Given the description of an element on the screen output the (x, y) to click on. 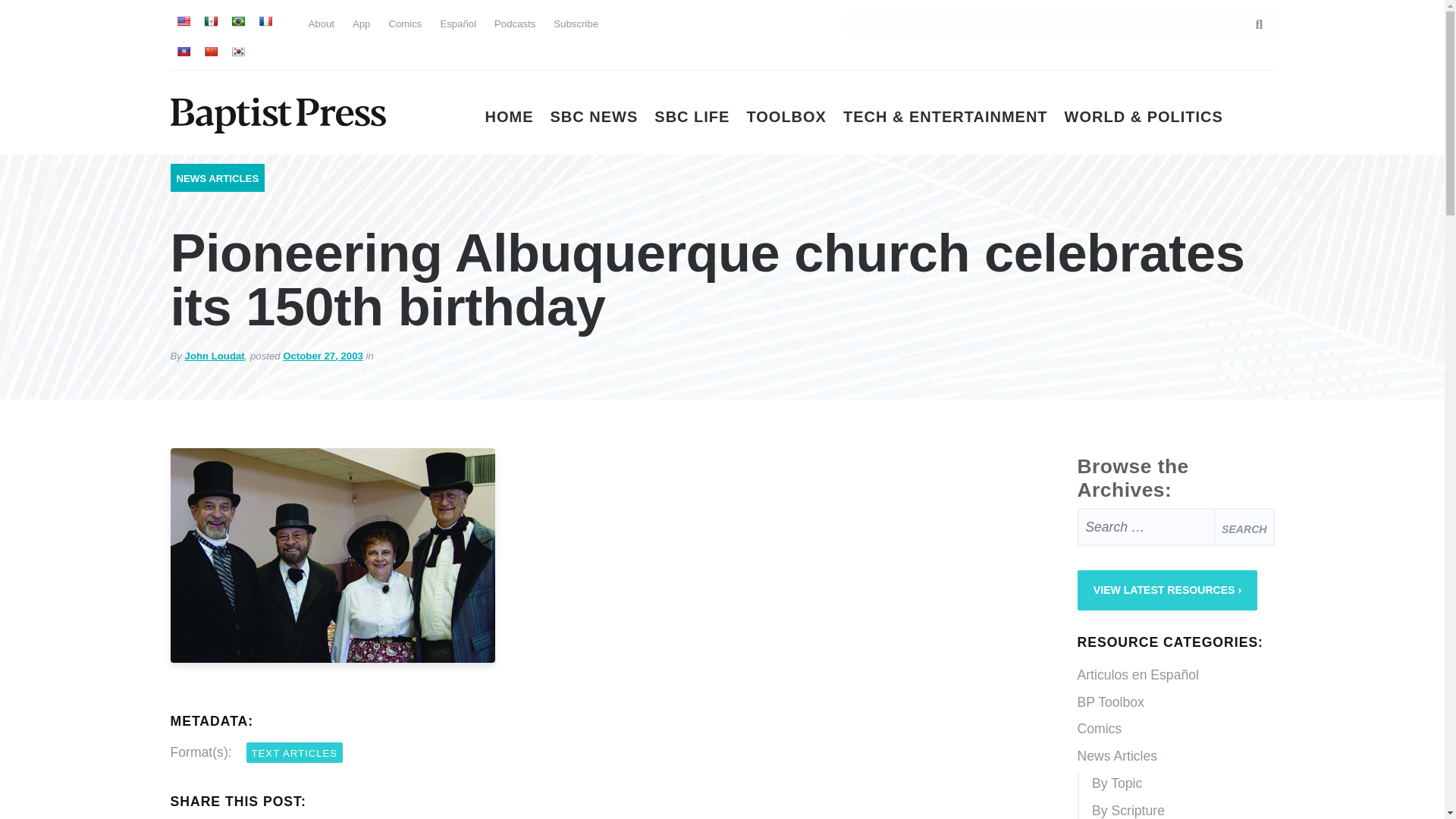
NEWS ARTICLES (217, 178)
English (182, 21)
VIEW LATEST RESOURCES (1167, 590)
TEXT ARTICLES (294, 752)
Spanish (209, 21)
Comics (405, 23)
HOME (509, 116)
About (320, 23)
TOOLBOX (786, 116)
French (263, 21)
Subscribe (575, 23)
John Loudat (214, 355)
Search (1244, 526)
Haitian (182, 51)
Podcasts (515, 23)
